Given the description of an element on the screen output the (x, y) to click on. 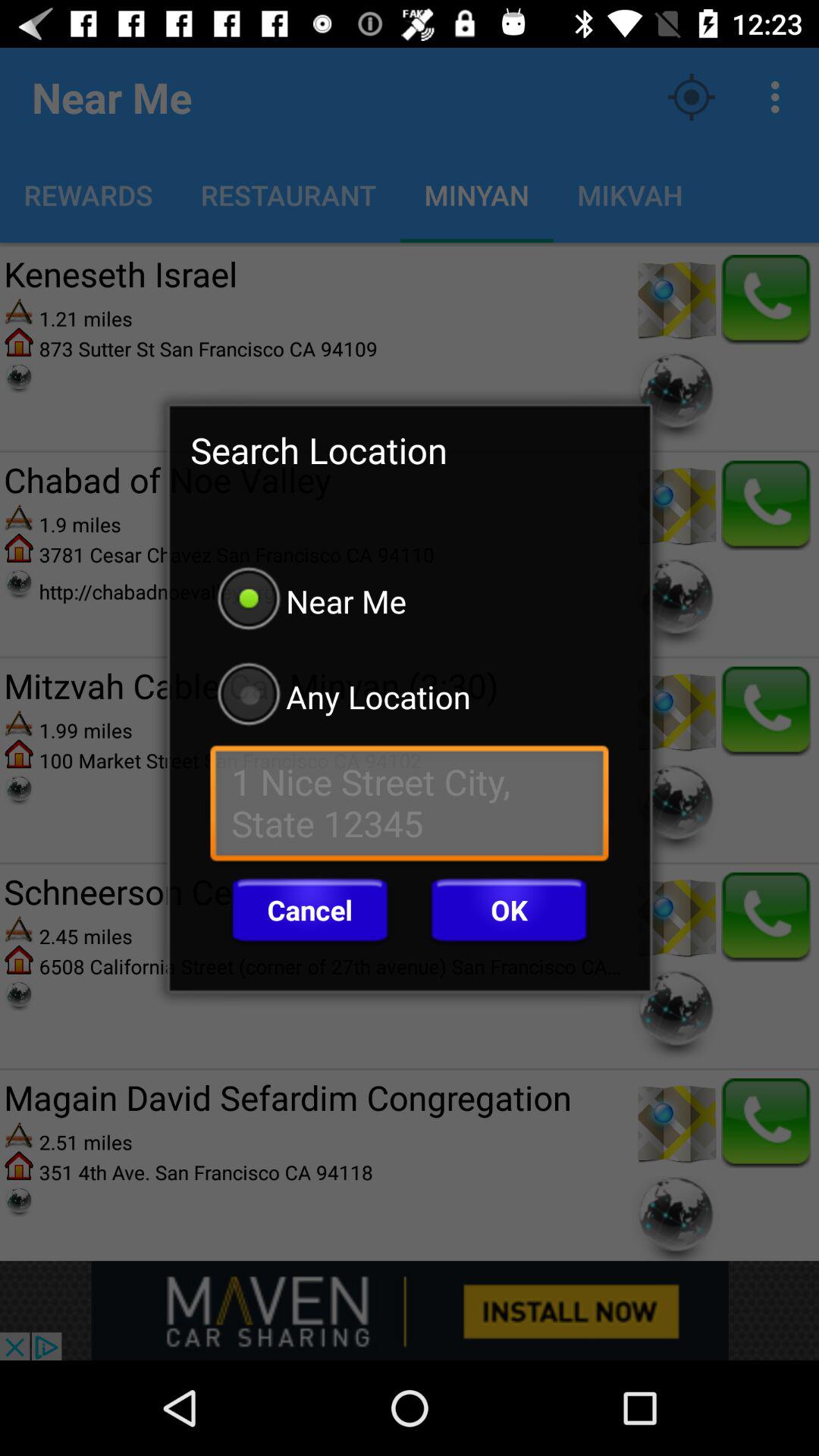
jump until the any location (409, 696)
